Given the description of an element on the screen output the (x, y) to click on. 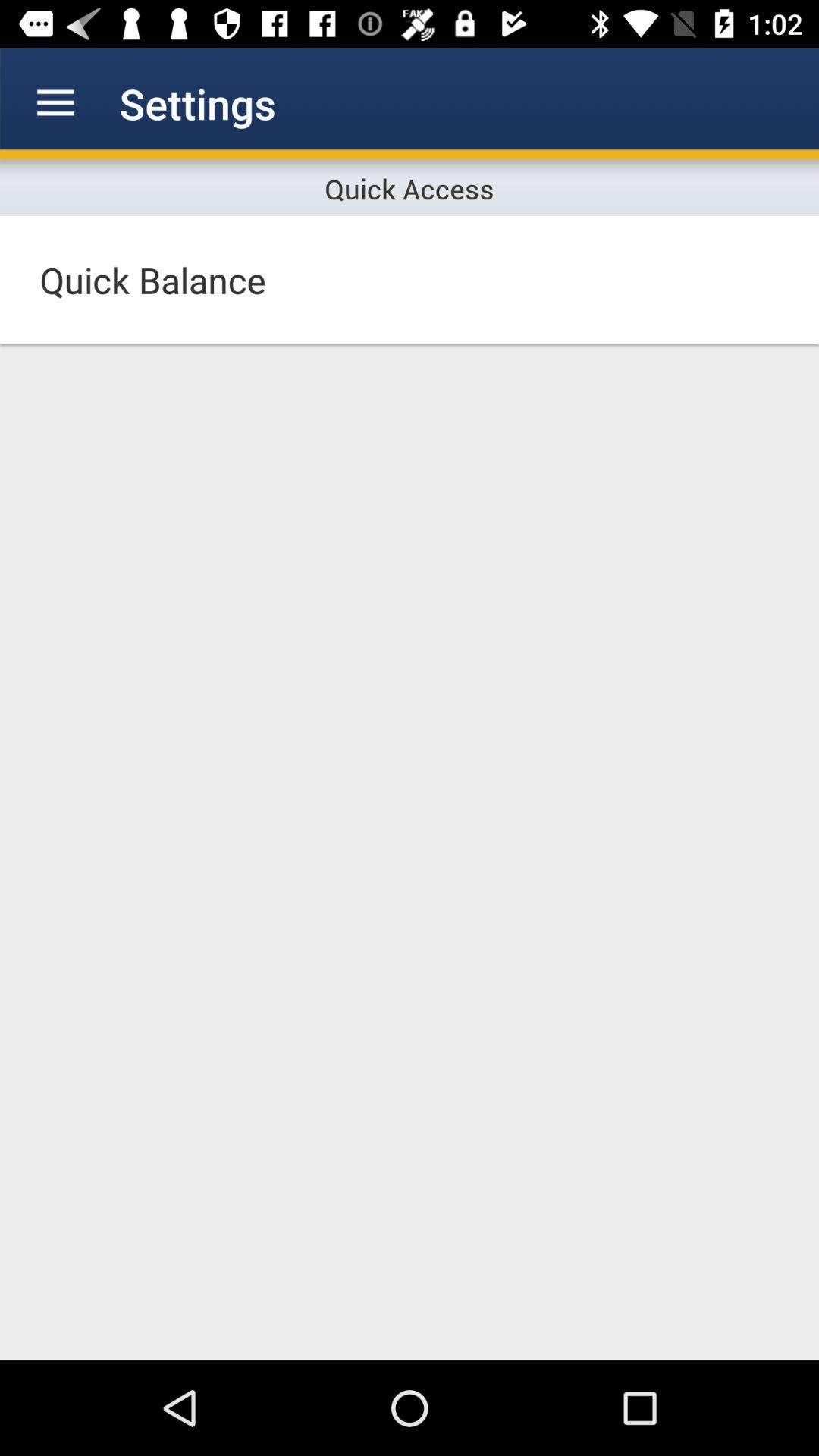
select item next to settings icon (55, 103)
